Given the description of an element on the screen output the (x, y) to click on. 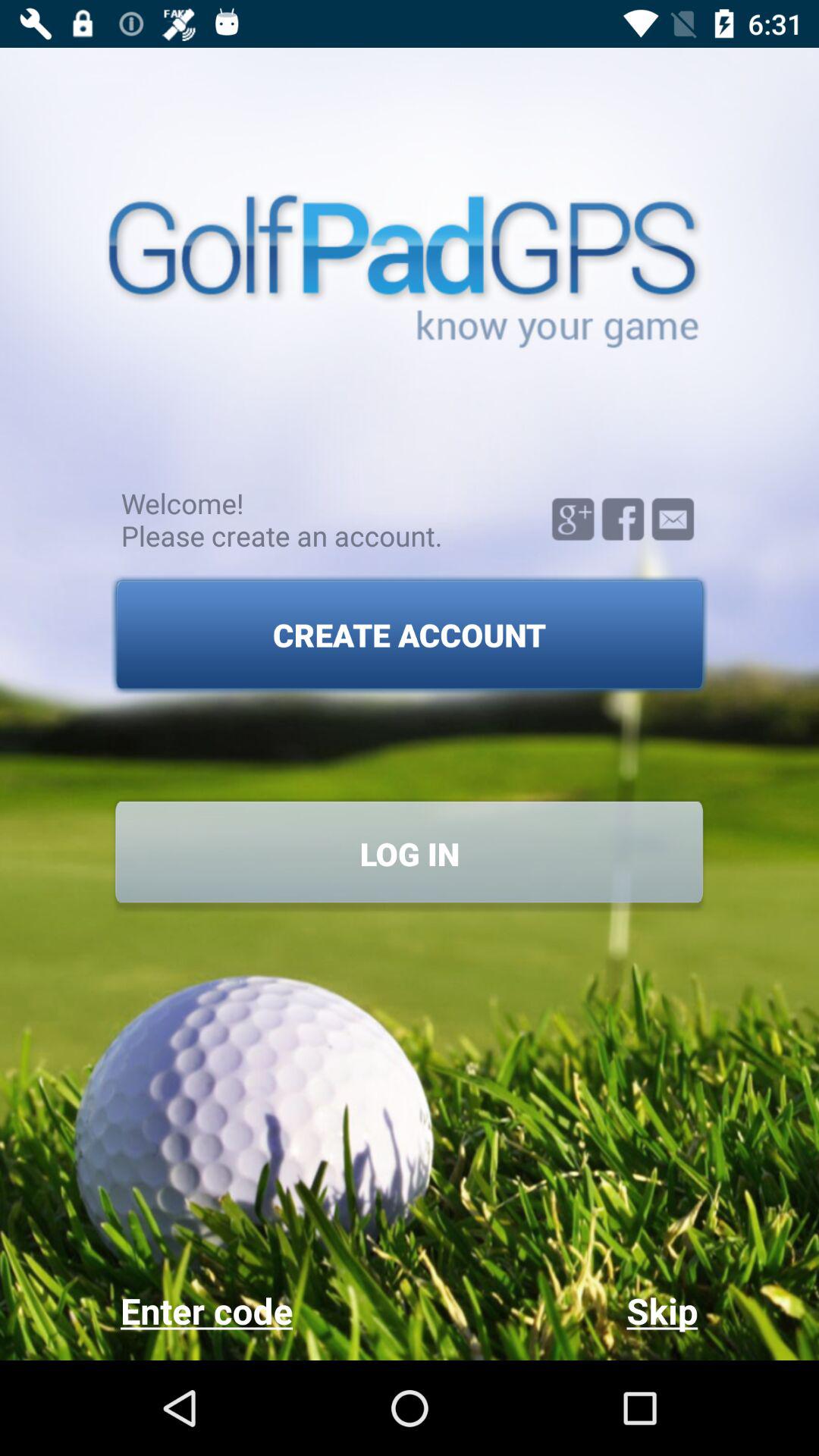
flip until enter code (264, 1310)
